Given the description of an element on the screen output the (x, y) to click on. 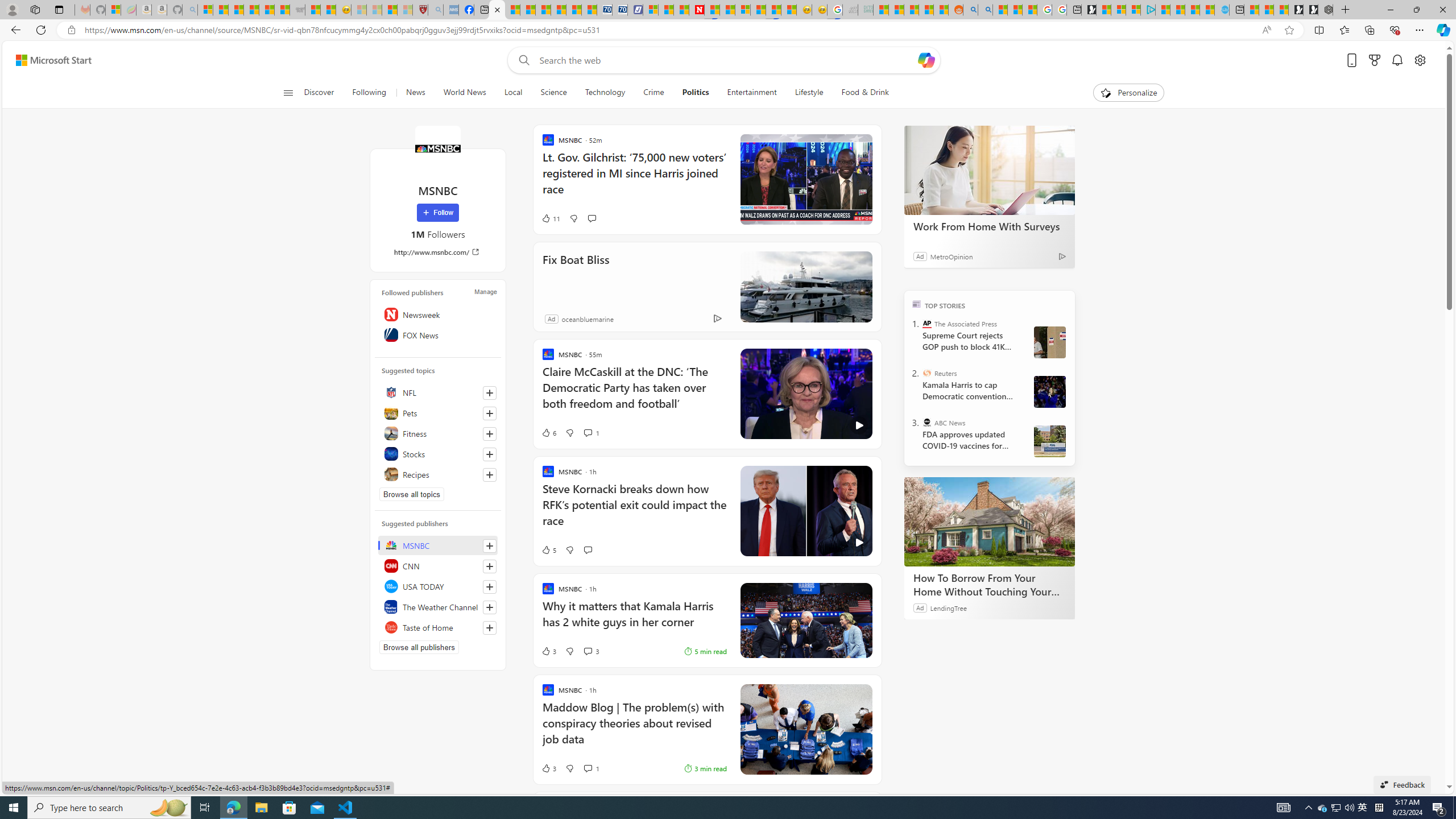
Combat Siege (297, 9)
Robert H. Shmerling, MD - Harvard Health (419, 9)
LendingTree (948, 607)
5 Like (547, 549)
Feedback (1402, 784)
Newsweek - News, Analysis, Politics, Business, Technology (696, 9)
ABC News (927, 422)
TOP (916, 302)
Taste of Home (437, 627)
Science (553, 92)
